Given the description of an element on the screen output the (x, y) to click on. 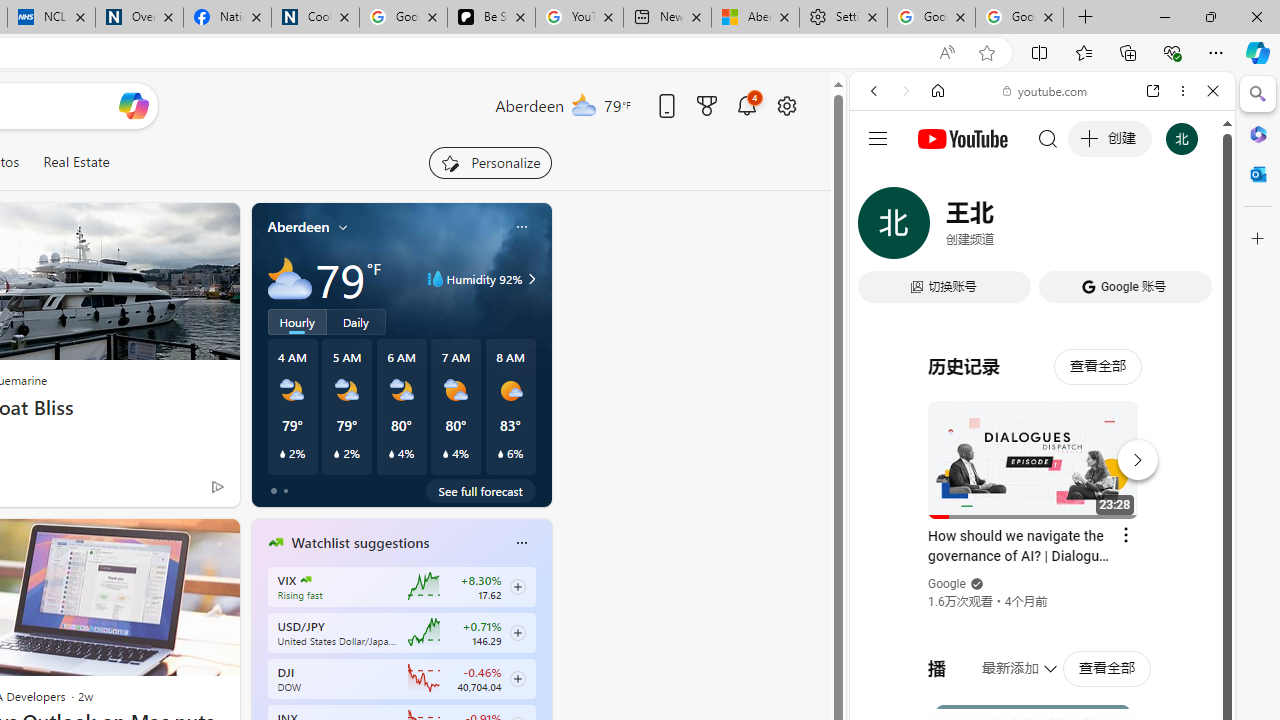
Mostly cloudy (289, 278)
#you (1042, 445)
Search Filter, VIDEOS (1006, 228)
Read aloud this page (Ctrl+Shift+U) (946, 53)
IMAGES (939, 228)
Search the web (1051, 137)
Home (938, 91)
WEB   (882, 228)
Music (1042, 543)
Class: follow-button  m (517, 678)
